Given the description of an element on the screen output the (x, y) to click on. 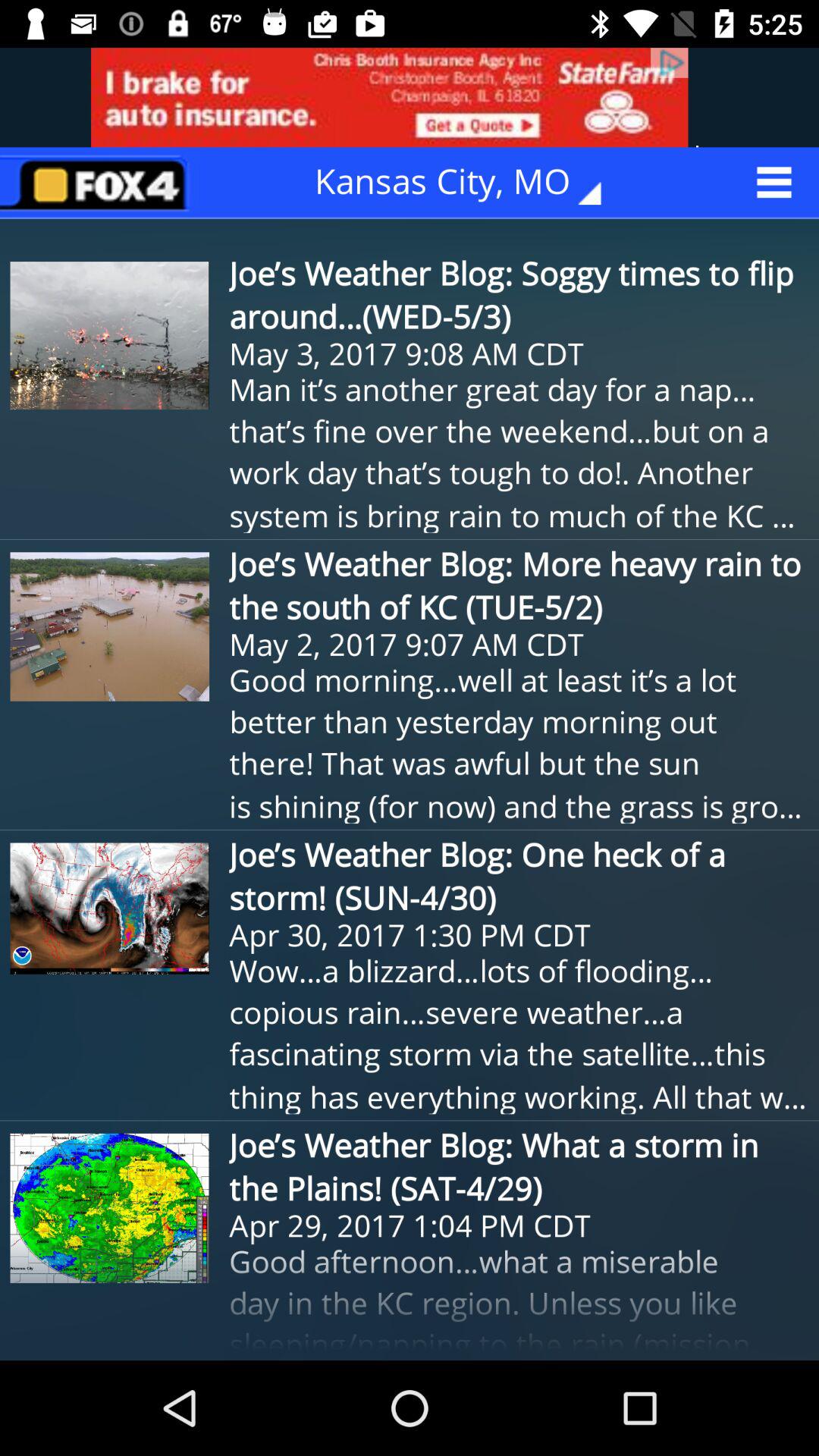
swipe until kansas city, mo icon (468, 182)
